Given the description of an element on the screen output the (x, y) to click on. 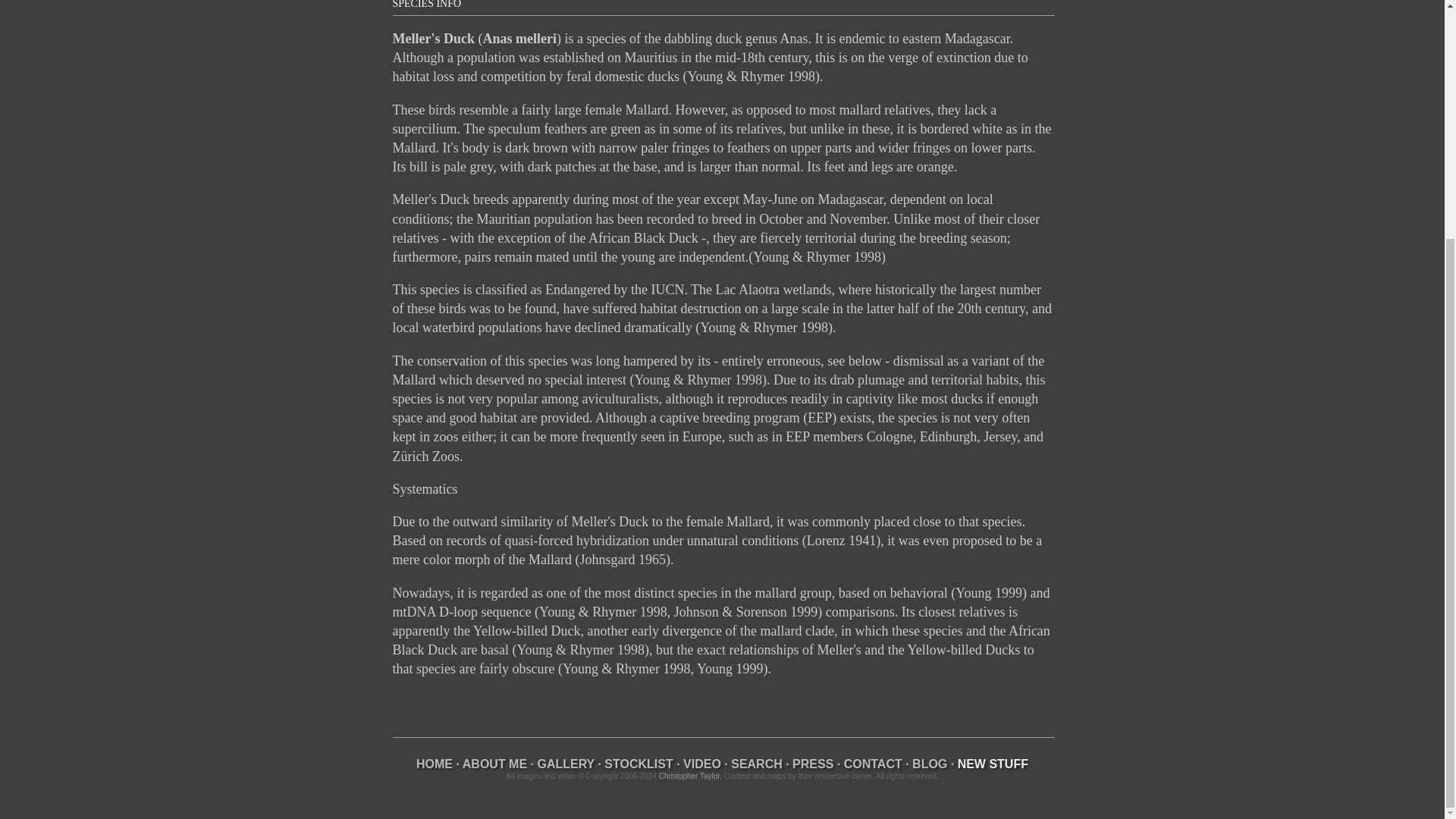
NEW STUFF (992, 763)
PRESS (812, 763)
Christopher Taylor (689, 776)
Blog (929, 763)
Contact Me (873, 763)
Home (434, 763)
New Images - LAST UPDATED July 9th, 2024! (992, 763)
BLOG (929, 763)
SEARCH (756, 763)
